Given the description of an element on the screen output the (x, y) to click on. 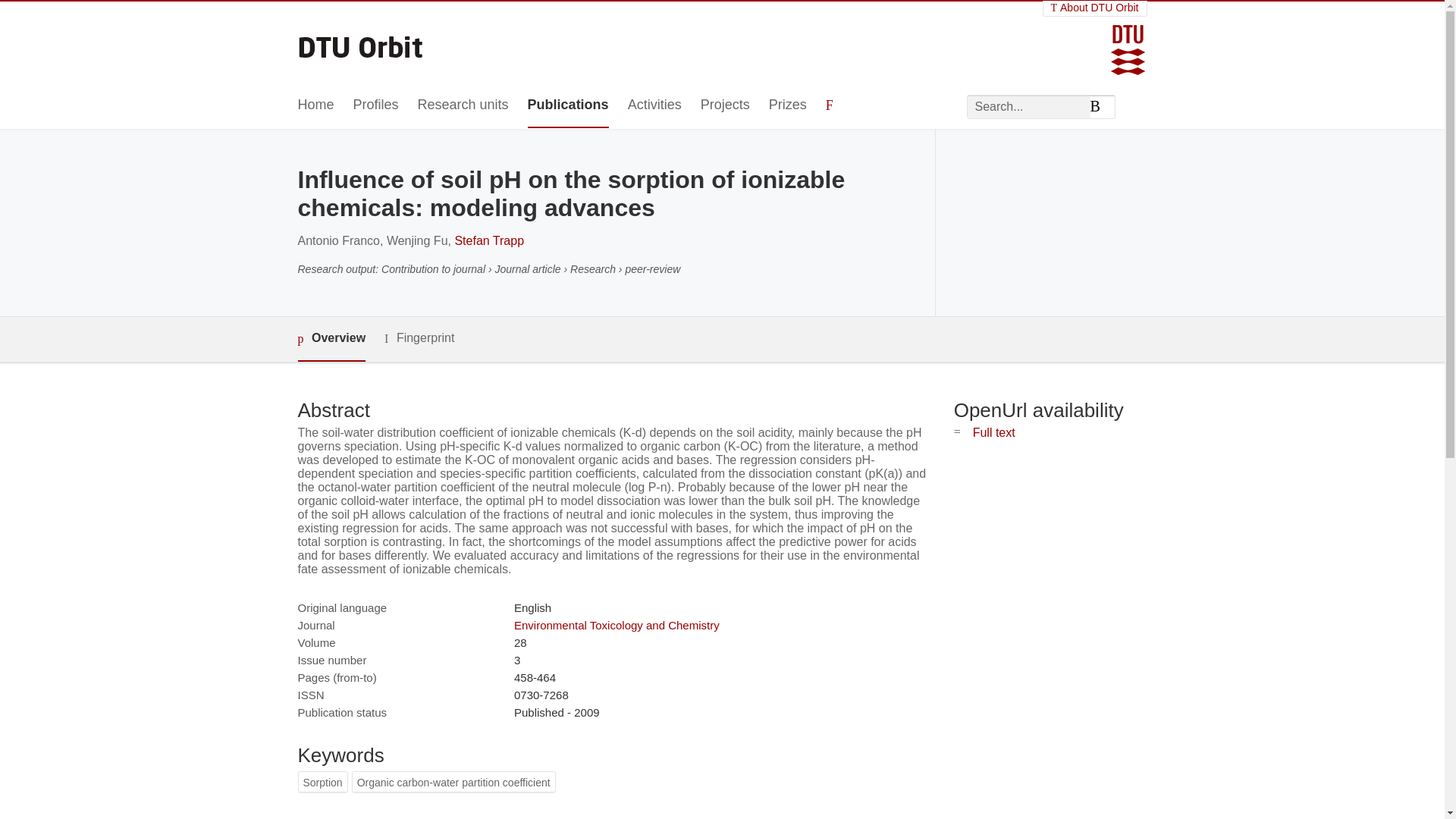
Fingerprint (419, 338)
Welcome to DTU Research Database Home (361, 41)
Environmental Toxicology and Chemistry (616, 625)
Research units (462, 105)
Publications (567, 105)
Prizes (787, 105)
Stefan Trapp (489, 240)
Overview (331, 338)
Profiles (375, 105)
Full text (993, 431)
About DTU Orbit (1095, 7)
Home (315, 105)
Projects (724, 105)
Activities (654, 105)
